Given the description of an element on the screen output the (x, y) to click on. 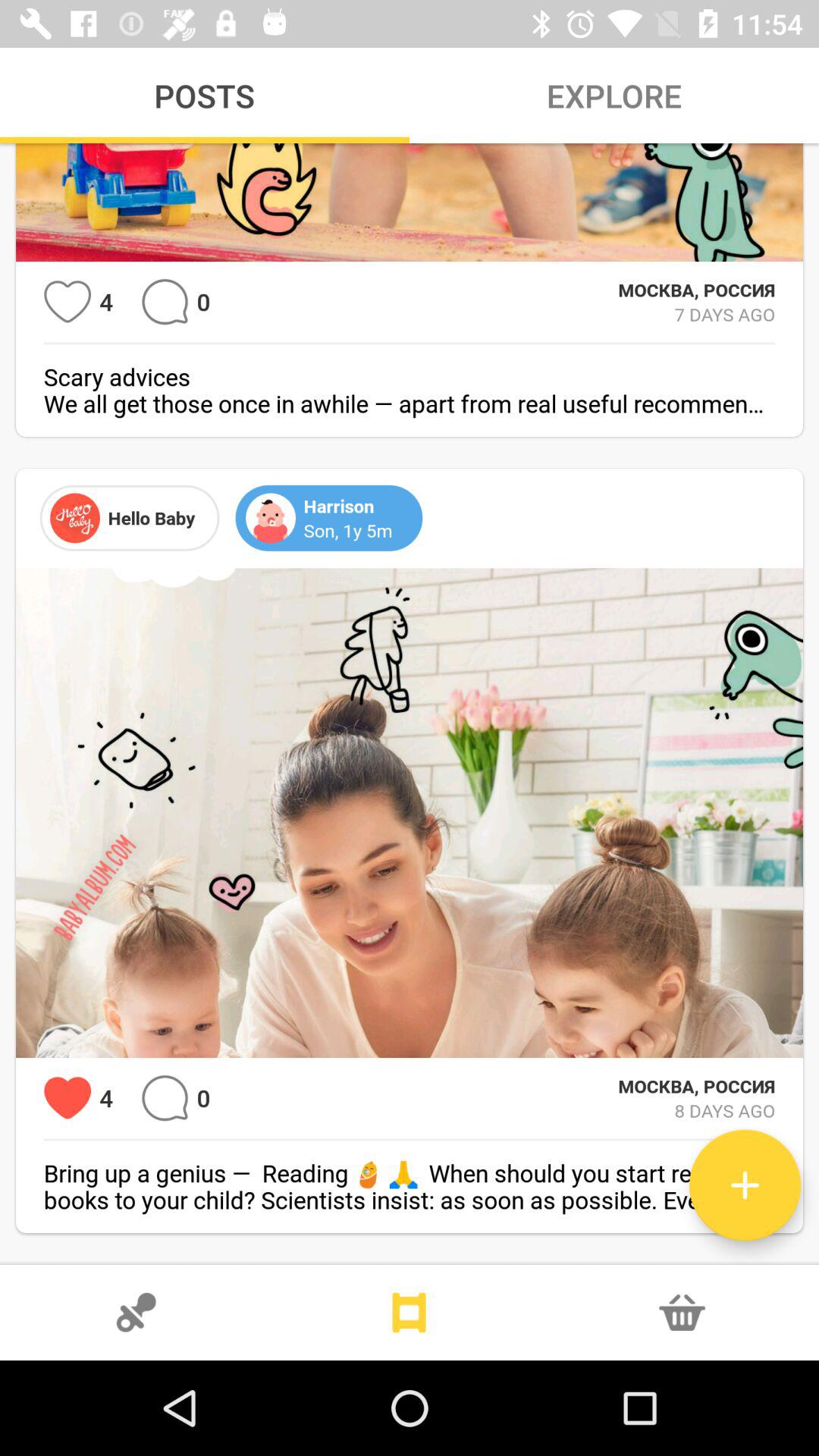
comment (164, 301)
